Given the description of an element on the screen output the (x, y) to click on. 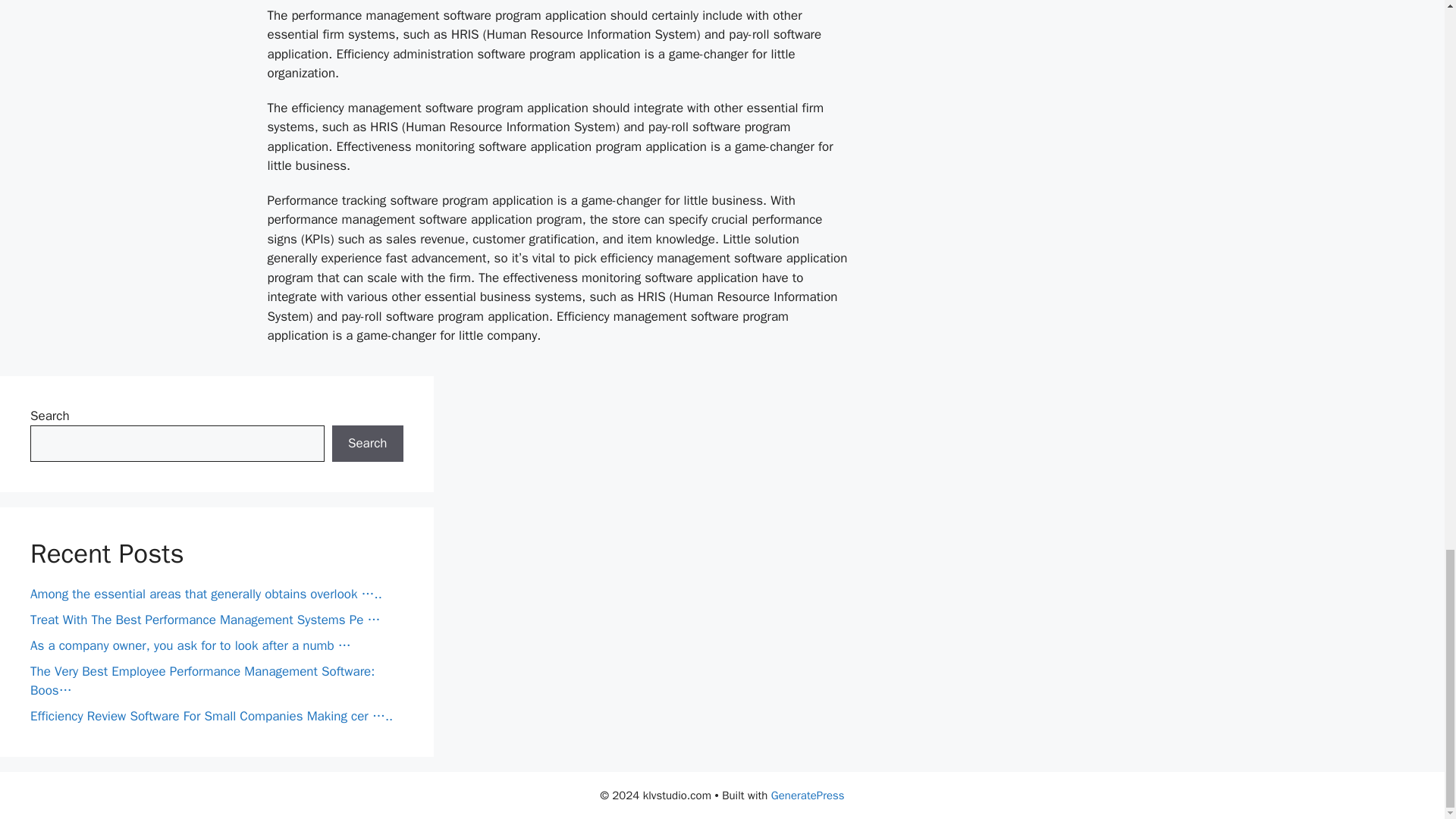
GeneratePress (807, 795)
Search (367, 443)
